Given the description of an element on the screen output the (x, y) to click on. 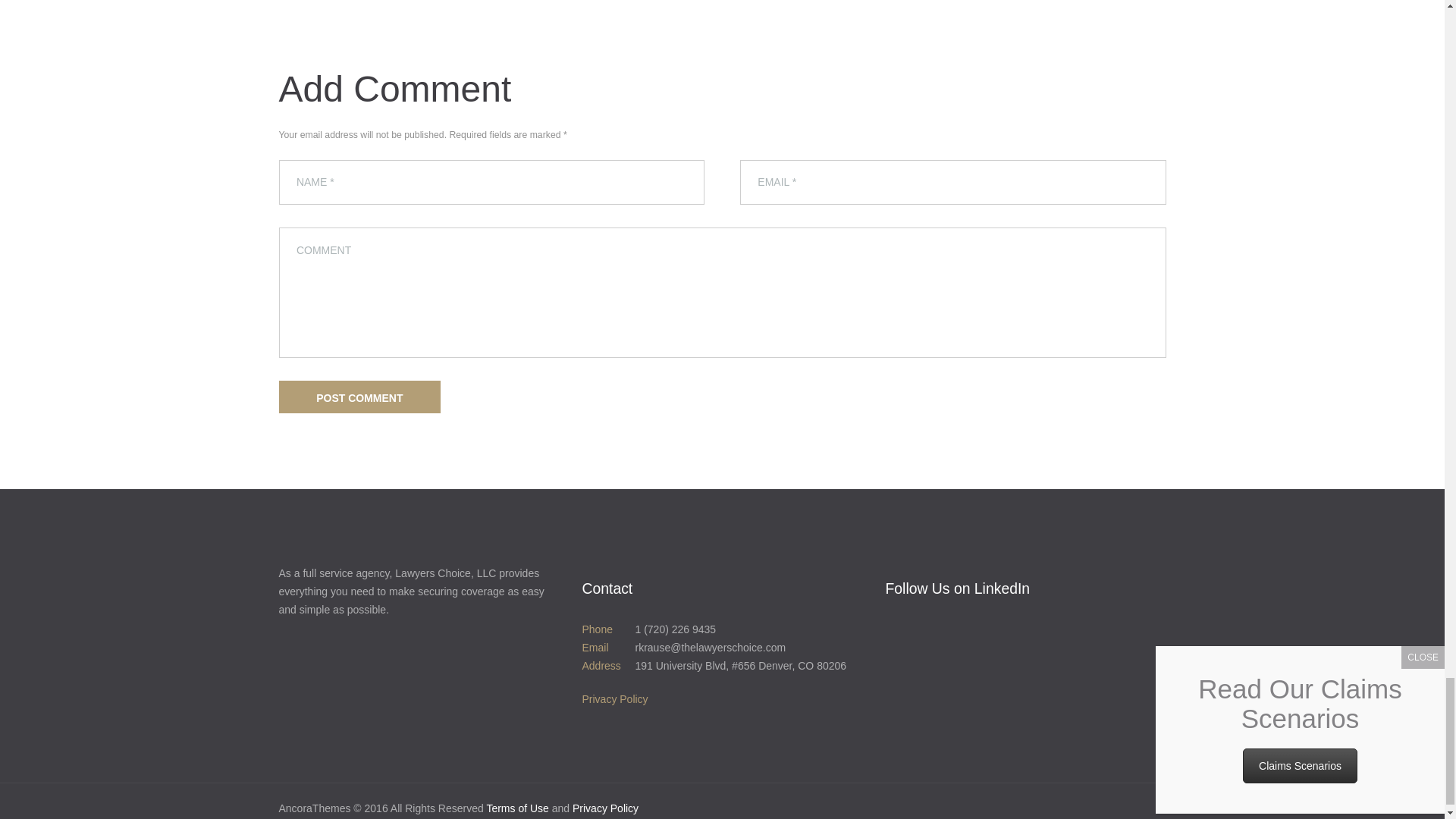
Post Comment (360, 396)
Terms of Use (517, 808)
Privacy Policy (605, 808)
Post Comment (360, 396)
Privacy Policy (613, 698)
